Given the description of an element on the screen output the (x, y) to click on. 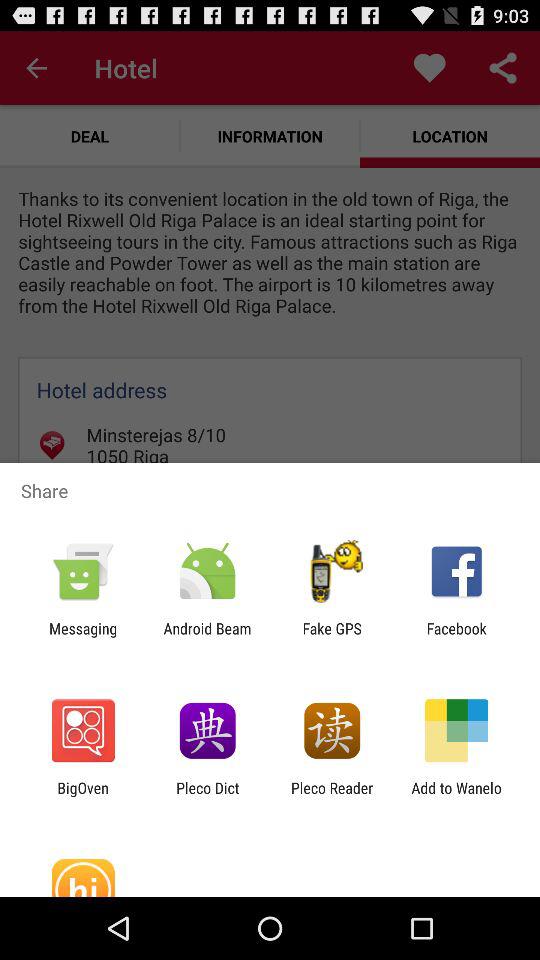
click app next to fake gps item (456, 637)
